Given the description of an element on the screen output the (x, y) to click on. 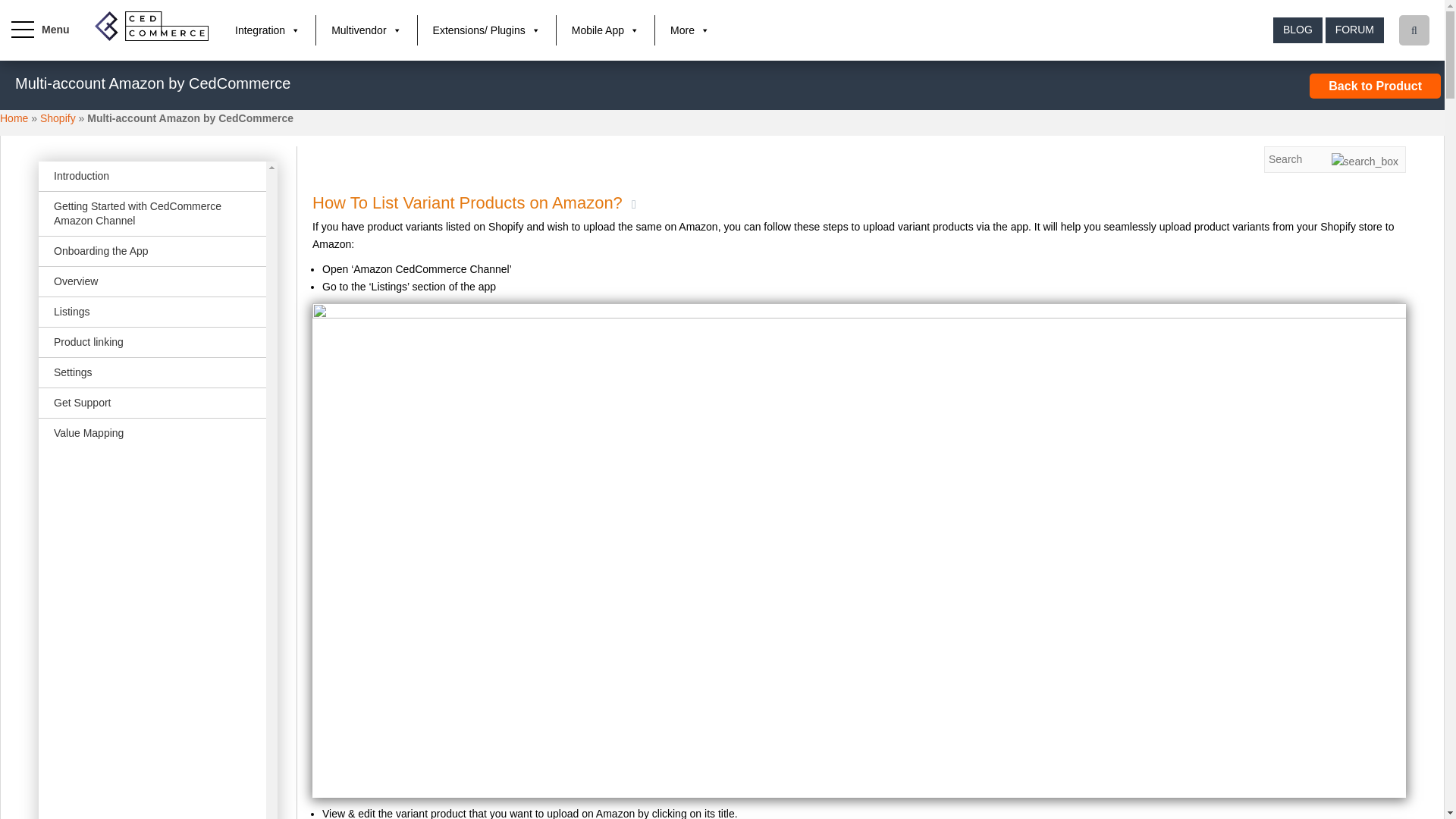
Integration (267, 30)
More (690, 30)
Mobile App (604, 30)
Multivendor (365, 30)
FORUM (1354, 30)
BLOG (1297, 30)
